Given the description of an element on the screen output the (x, y) to click on. 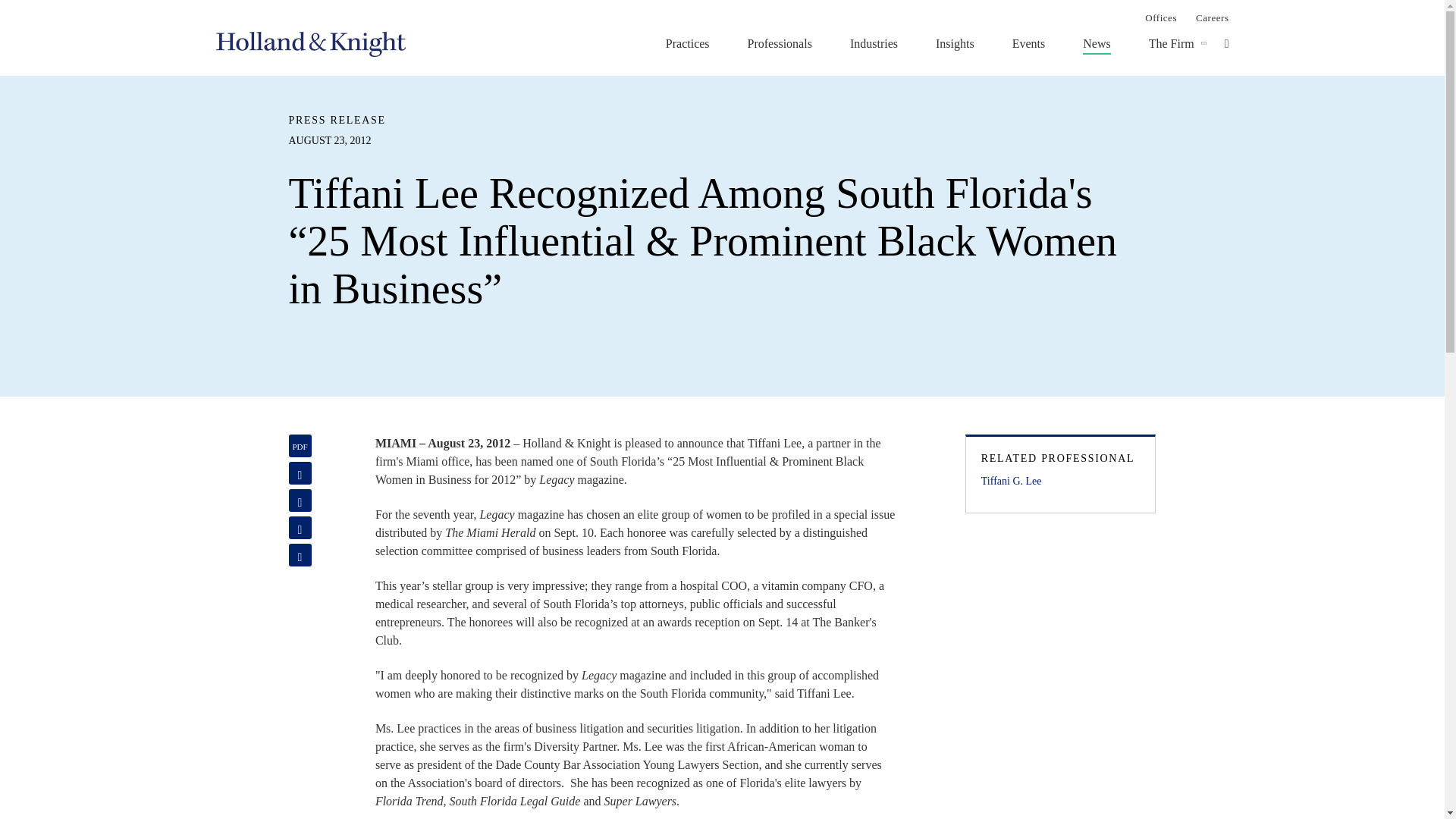
Careers (1211, 16)
Tiffani G. Lee (1060, 481)
Industries (874, 42)
The Firm (1170, 43)
Events (1028, 42)
News (1096, 42)
Practices (687, 42)
Insights (955, 42)
Offices (1160, 16)
Professionals (780, 42)
